Given the description of an element on the screen output the (x, y) to click on. 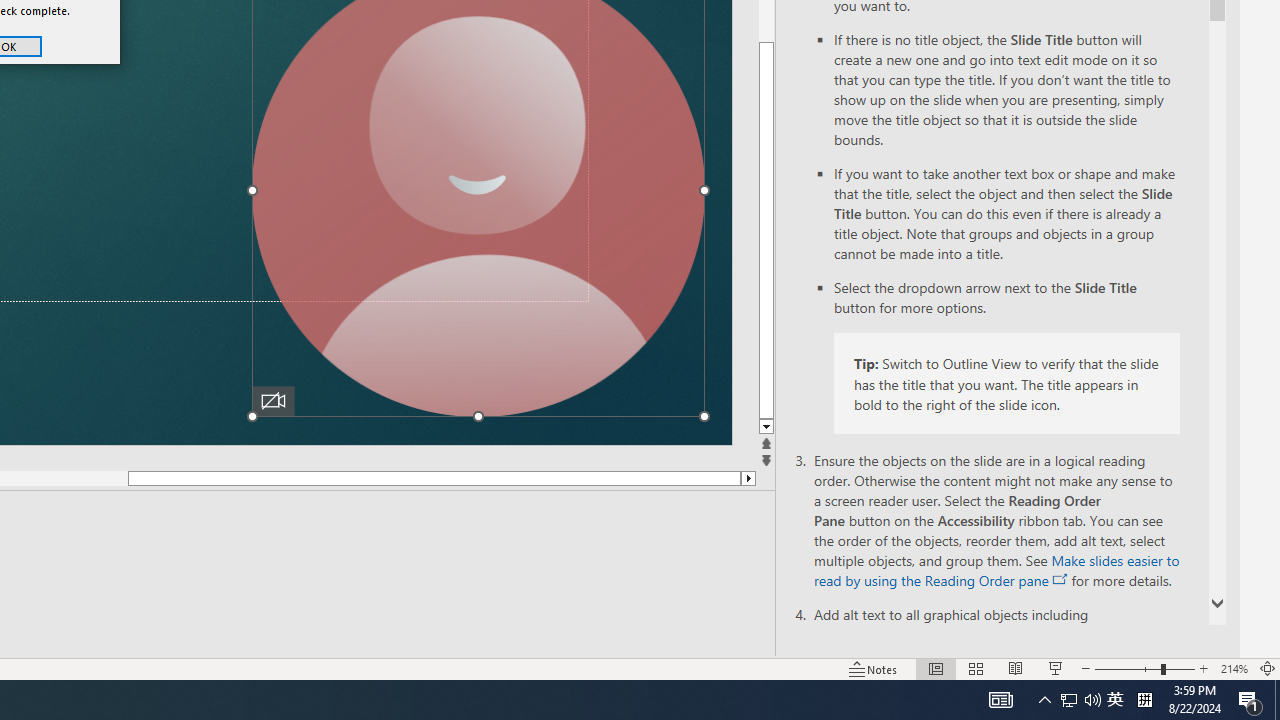
Action Center, 1 new notification (1250, 699)
Zoom 214% (1234, 668)
openinnewwindow (1060, 579)
